Given the description of an element on the screen output the (x, y) to click on. 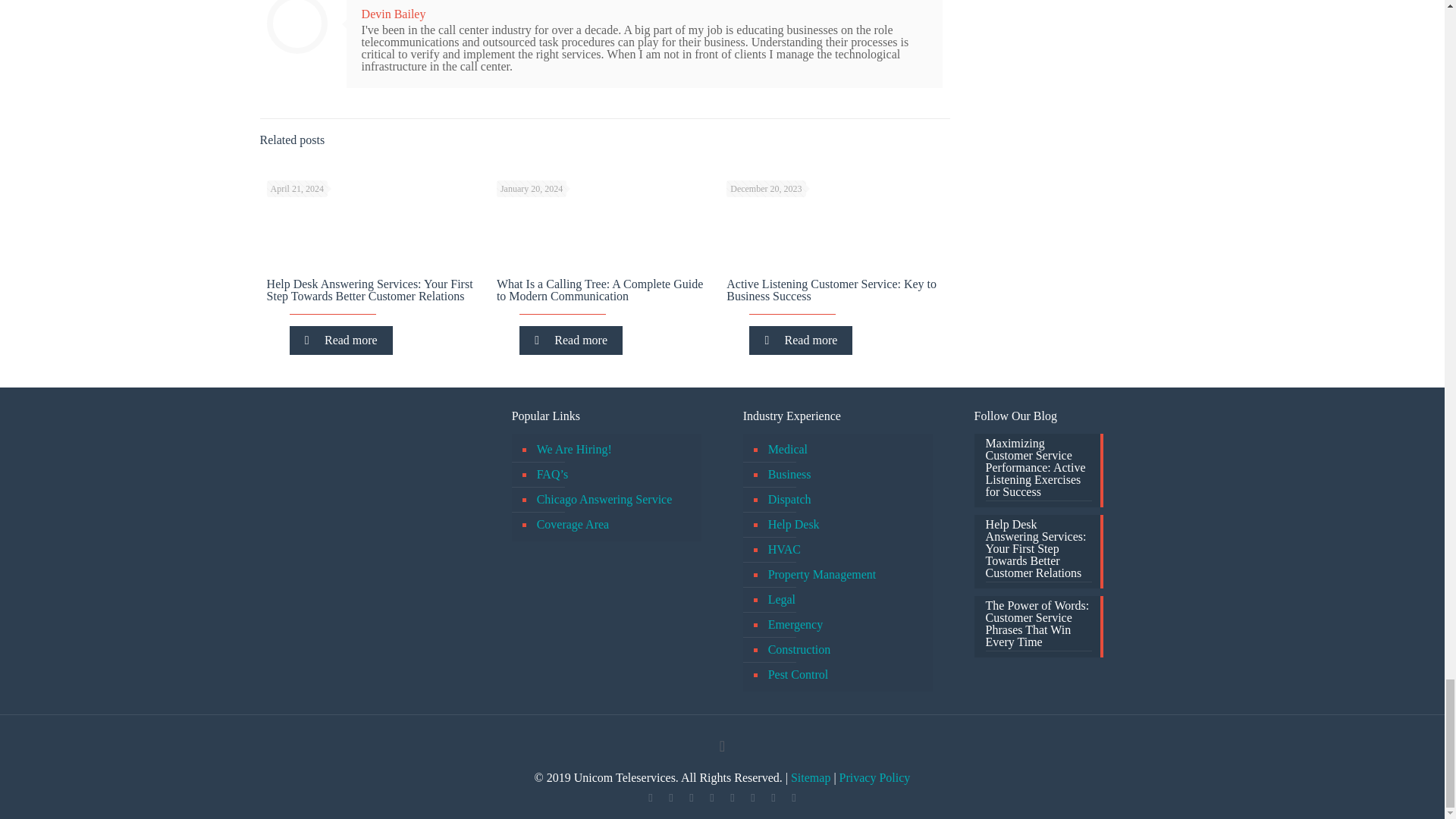
Facebook (650, 797)
Pinterest (731, 797)
Twitter (670, 797)
LinkedIn (711, 797)
Instagram (752, 797)
RSS (772, 797)
YouTube (690, 797)
